Given the description of an element on the screen output the (x, y) to click on. 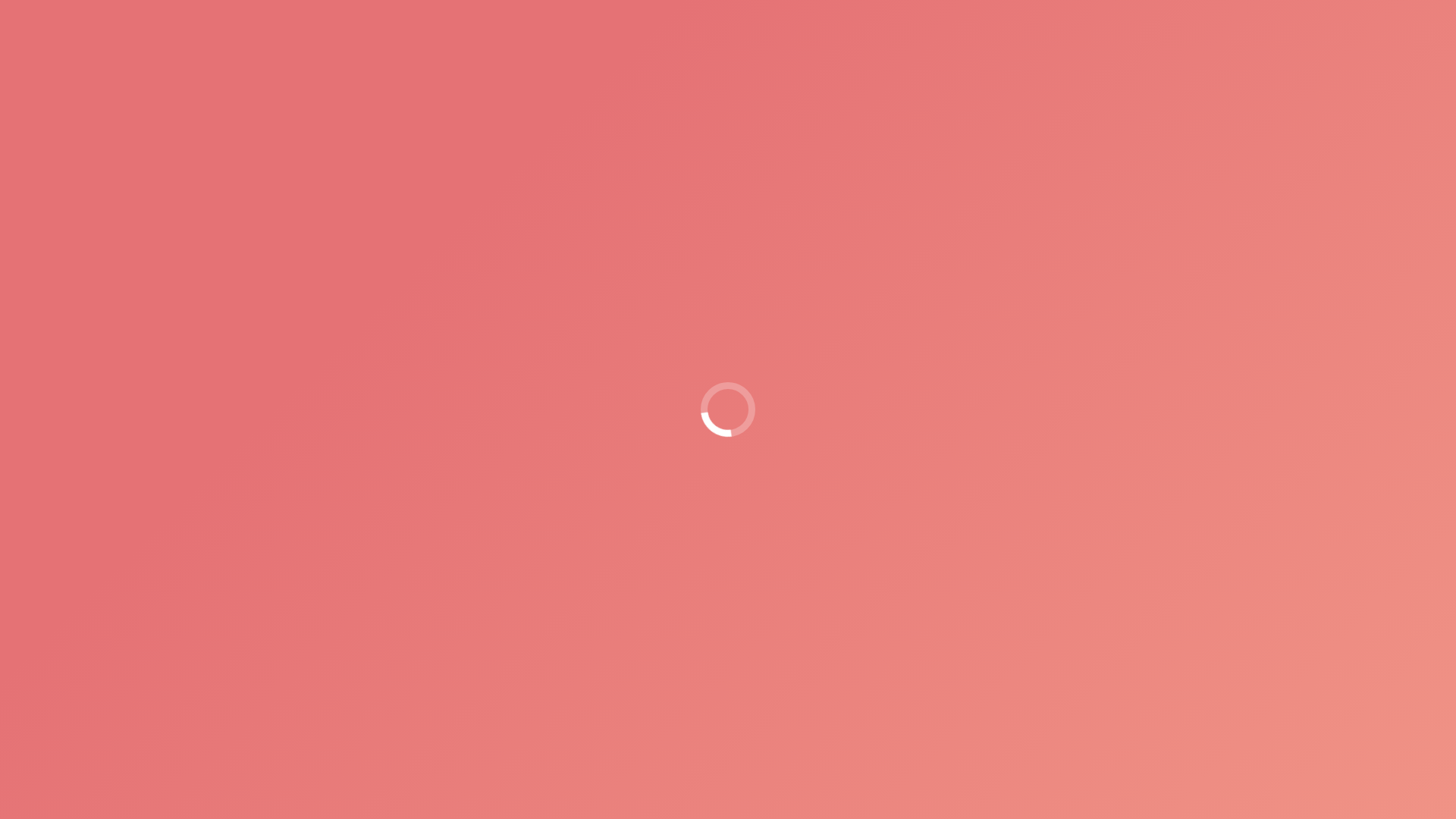
Home Element type: text (981, 145)
Privacybeleid Element type: text (1142, 556)
STEUNEN Element type: text (847, 62)
Facebook page opens in new window Element type: text (1161, 9)
OVER ONS Element type: text (768, 62)
Share on Twitter Element type: text (746, 472)
SPONSORS Element type: text (1083, 62)
Partner,Client, etc. Element type: text (1048, 145)
Twitter page opens in new window Element type: text (1138, 9)
Share on Facebook Element type: text (705, 472)
IN DE PERS Element type: text (996, 62)
Gebruiksvoorwaarden Element type: text (1053, 556)
NIEUWS Element type: text (920, 62)
TEAM Element type: text (1153, 62)
HOME Element type: text (699, 62)
